Given the description of an element on the screen output the (x, y) to click on. 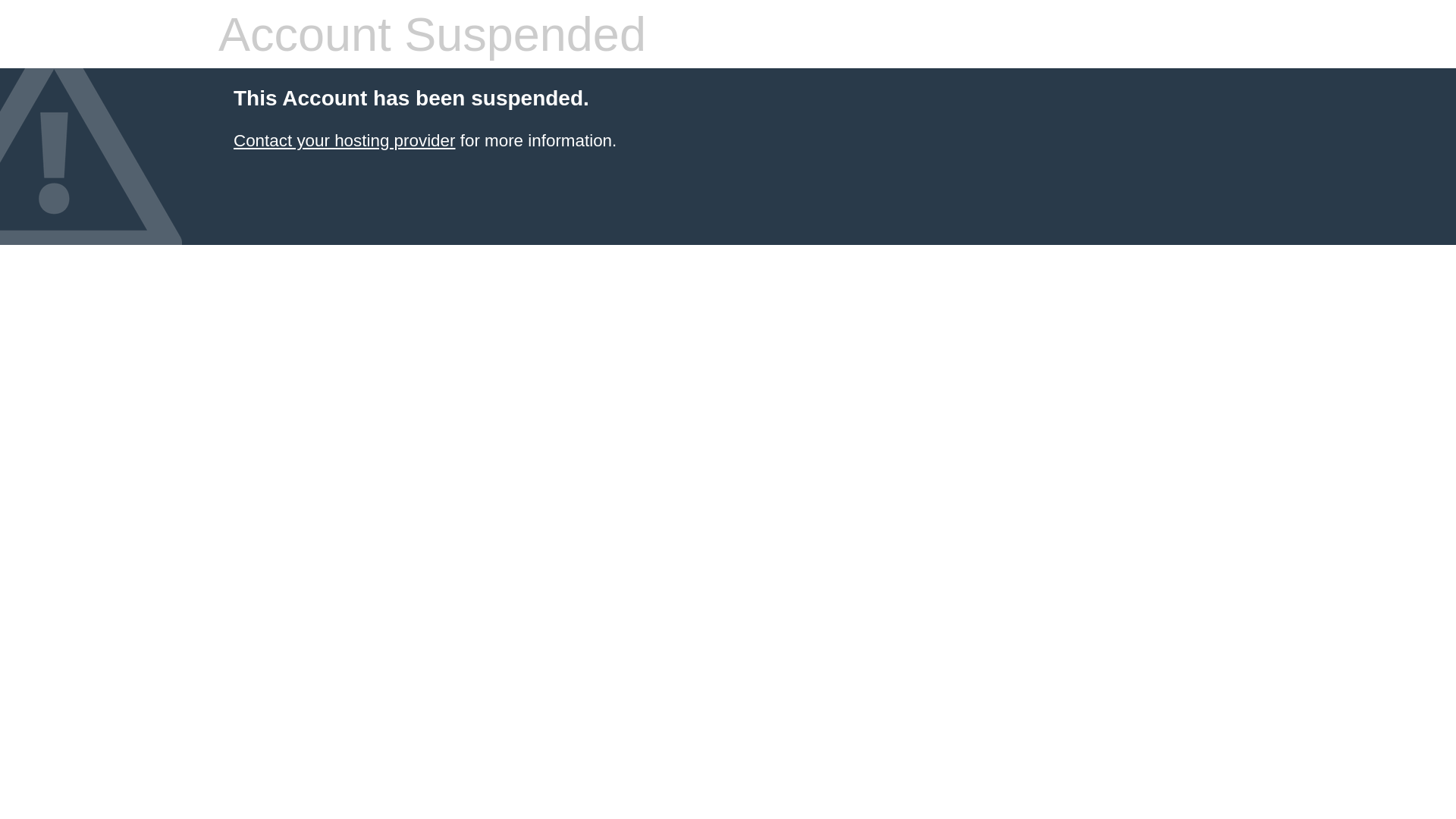
Contact your hosting provider Element type: text (344, 140)
